Given the description of an element on the screen output the (x, y) to click on. 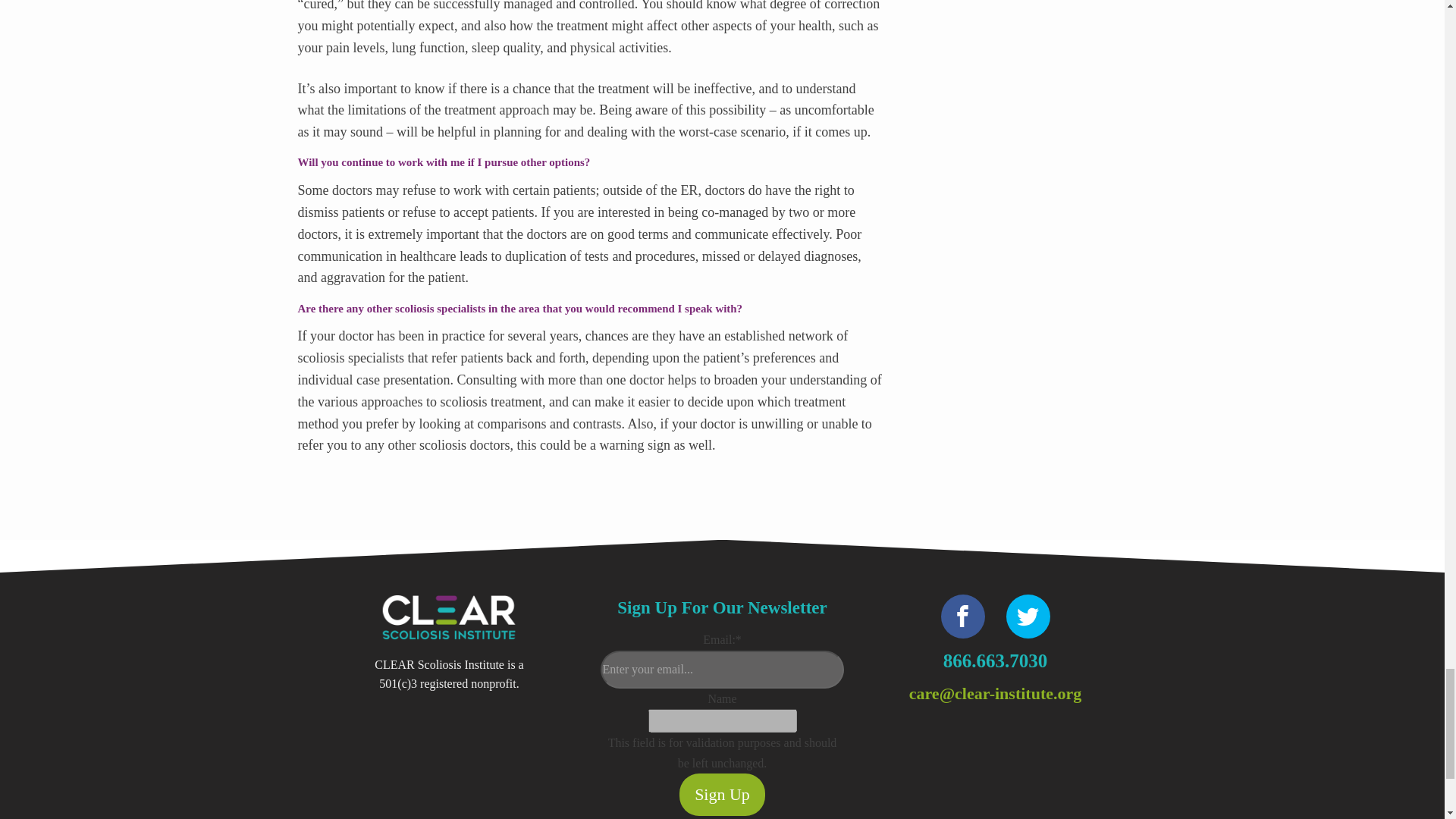
Sign Up (722, 793)
